Given the description of an element on the screen output the (x, y) to click on. 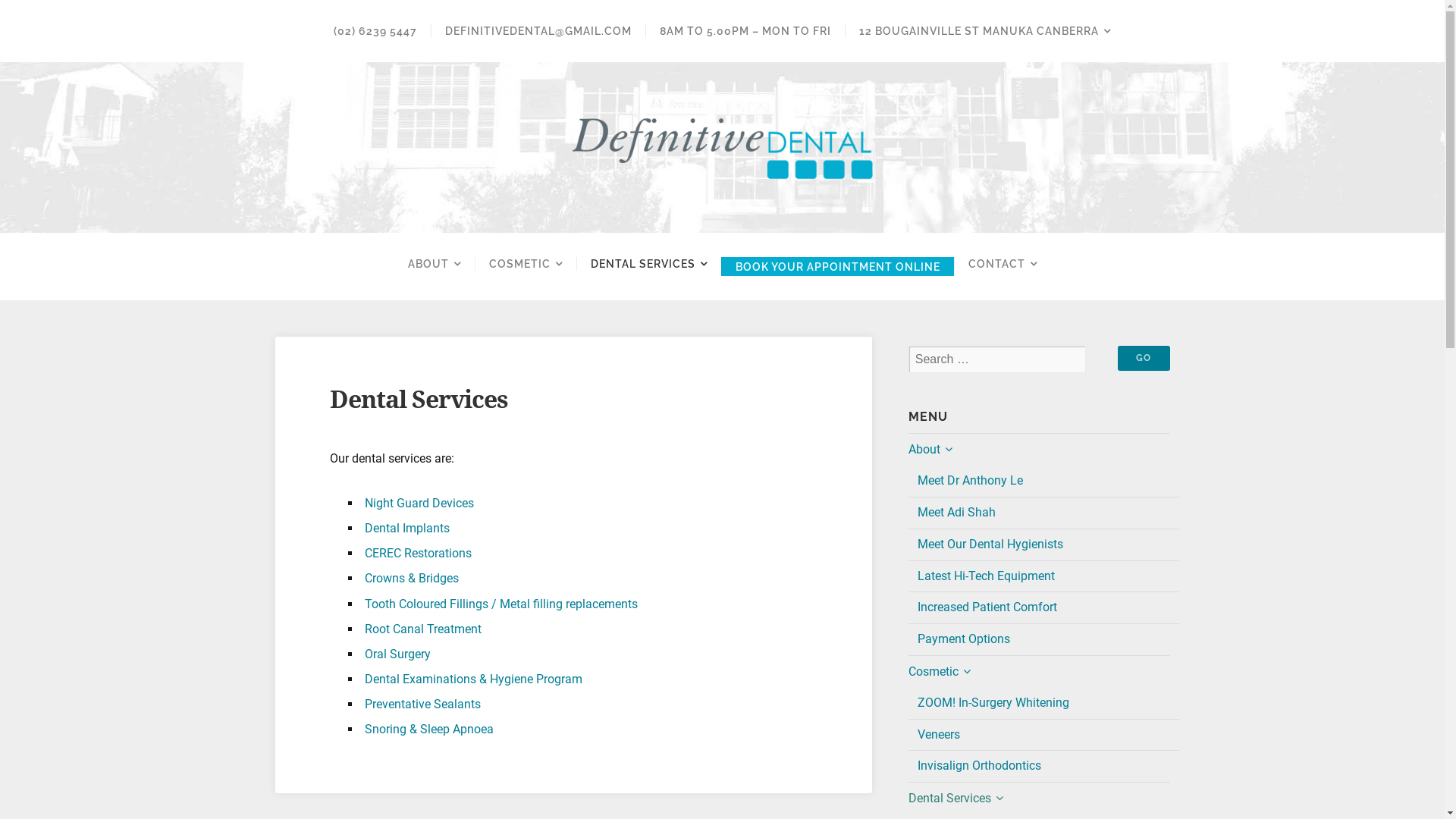
Night Guard Devices Element type: text (418, 502)
CEREC Restorations Element type: text (417, 553)
Meet Our Dental Hygienists Element type: text (1043, 544)
Snoring & Sleep Apnoea Element type: text (428, 728)
Invisalign Orthodontics Element type: text (1043, 765)
Go Element type: text (1143, 357)
About Element type: text (1039, 449)
(02) 6239 5447 Element type: text (375, 30)
Latest Hi-Tech Equipment Element type: text (1043, 576)
ZOOM! In-Surgery Whitening Element type: text (1043, 702)
COSMETIC Element type: text (525, 263)
BOOK YOUR APPOINTMENT ONLINE Element type: text (836, 266)
Dental Examinations & Hygiene Program Element type: text (472, 678)
Tooth Coloured Fillings / Metal filling replacements Element type: text (500, 603)
Meet Dr Anthony Le Element type: text (1043, 480)
Payment Options Element type: text (1043, 639)
Oral Surgery Element type: text (396, 653)
Root Canal Treatment Element type: text (422, 628)
Increased Patient Comfort Element type: text (1043, 607)
Meet Adi Shah Element type: text (1043, 512)
Preventative Sealants Element type: text (422, 703)
Dental Implants Element type: text (406, 527)
Cosmetic Element type: text (1039, 671)
Dental Services Element type: text (1039, 798)
Veneers Element type: text (1043, 734)
DENTAL SERVICES Element type: text (648, 263)
Definitive Dental Element type: text (722, 144)
ABOUT Element type: text (434, 263)
DEFINITIVEDENTAL@GMAIL.COM Element type: text (537, 30)
CONTACT Element type: text (1002, 263)
Crowns & Bridges Element type: text (411, 578)
12 BOUGAINVILLE ST MANUKA CANBERRA Element type: text (984, 30)
